Given the description of an element on the screen output the (x, y) to click on. 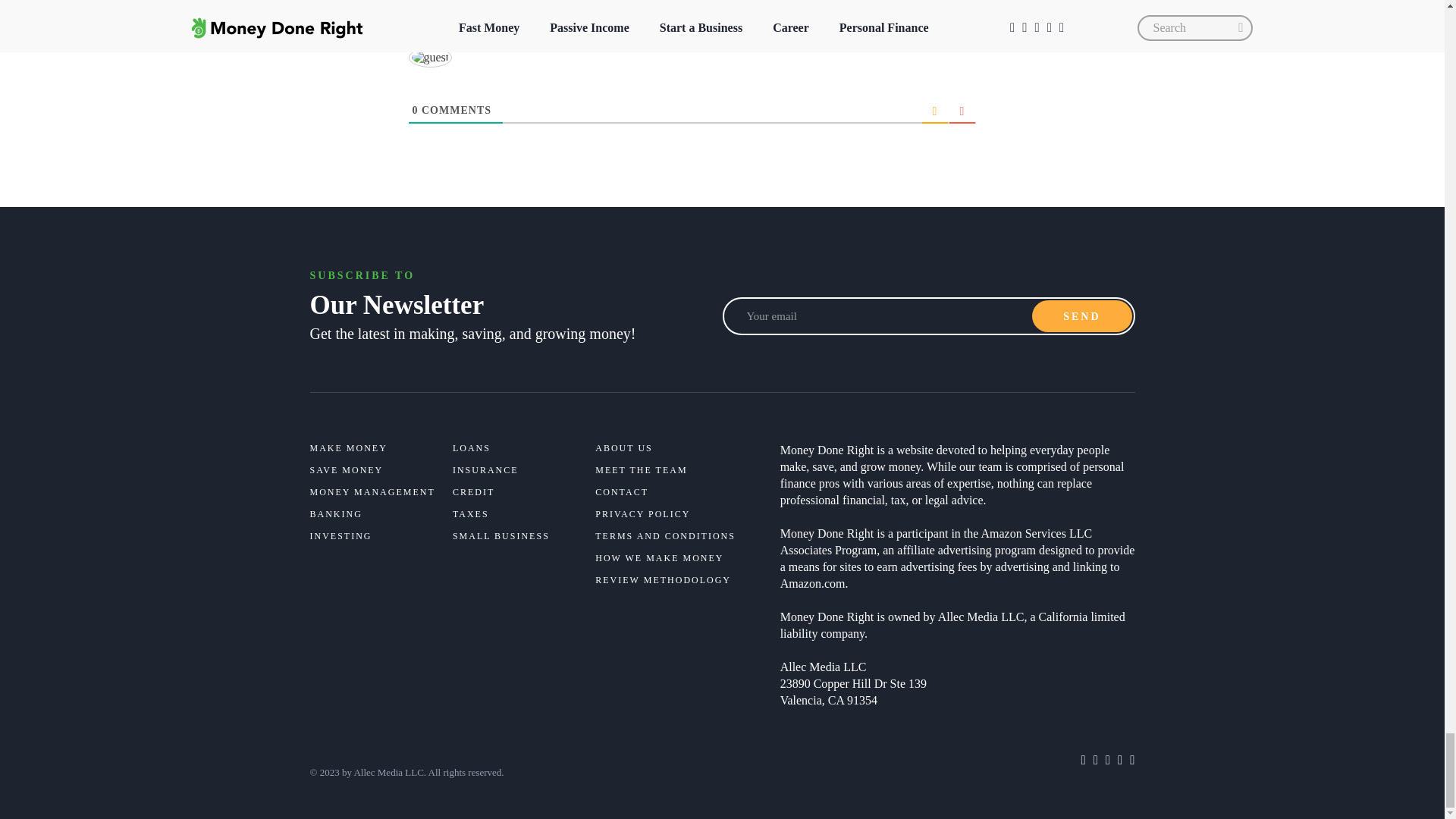
Send (1081, 316)
